Given the description of an element on the screen output the (x, y) to click on. 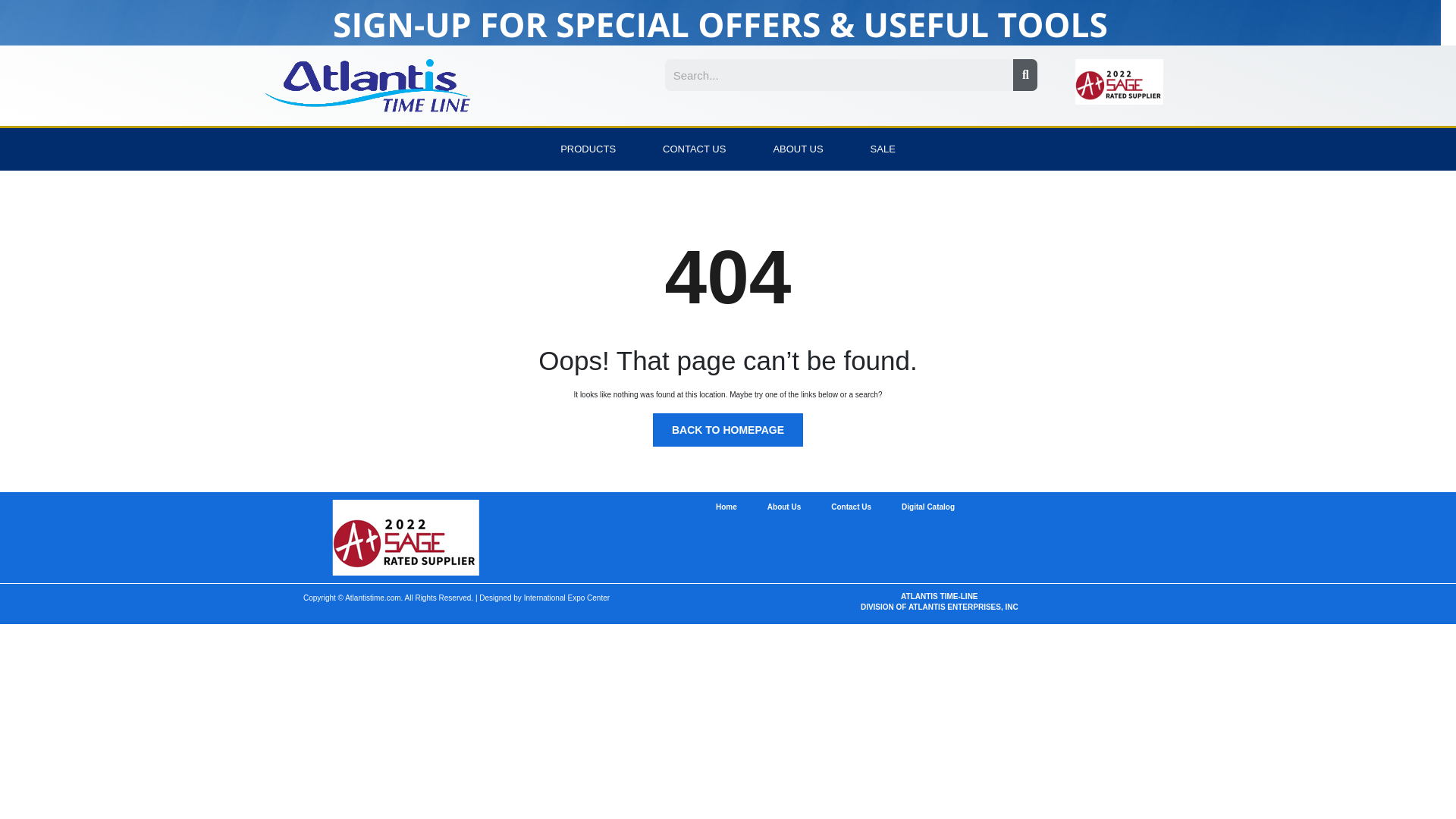
About Us (783, 507)
Contact Us (850, 507)
BACK TO HOMEPAGE (727, 429)
Digital Catalog (927, 507)
CONTACT US (694, 148)
SALE (882, 148)
Log in (727, 503)
ABOUT US (797, 148)
Home (726, 507)
PRODUCTS (588, 148)
Search (839, 74)
